Given the description of an element on the screen output the (x, y) to click on. 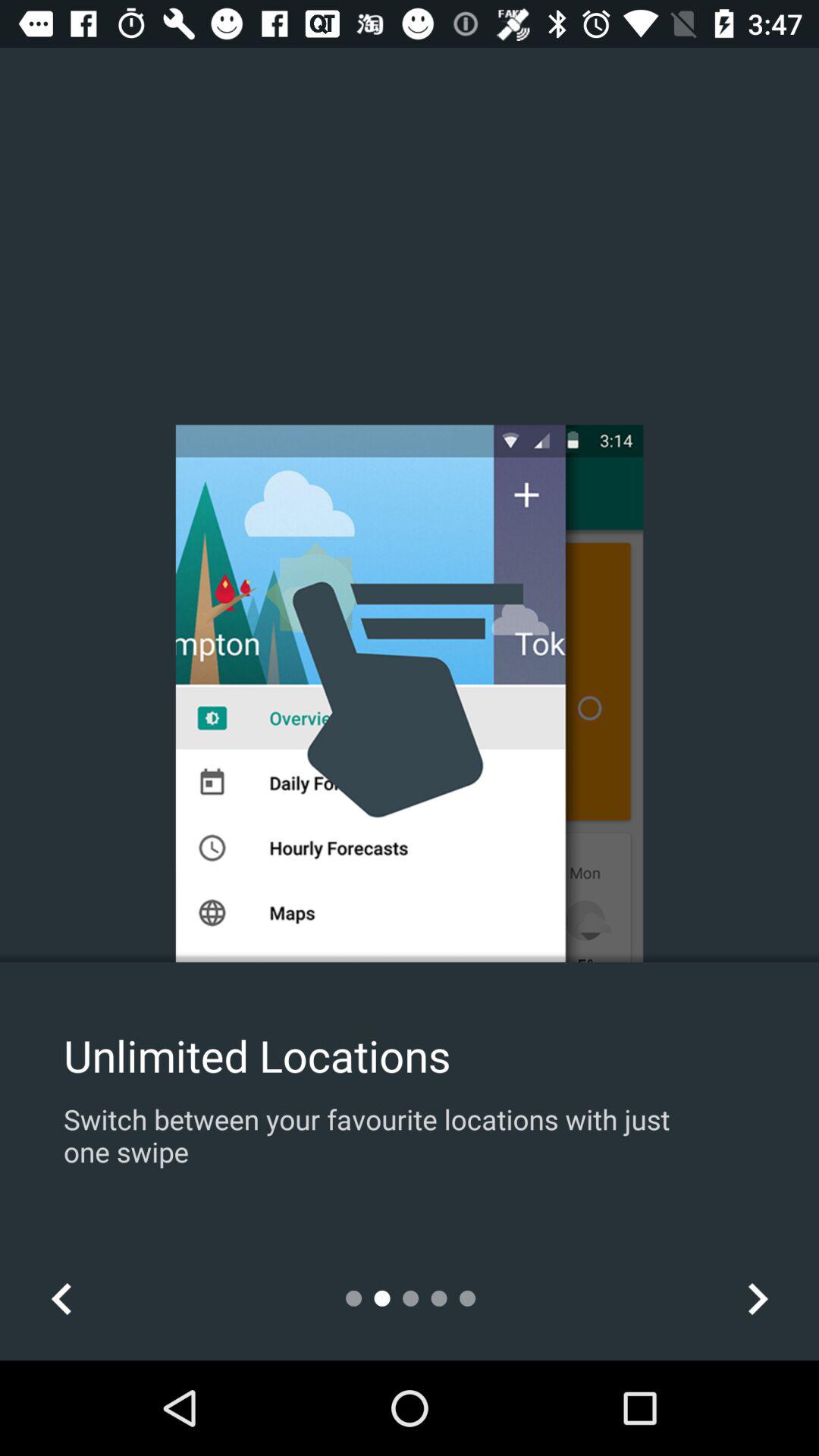
turn on icon at the bottom right corner (757, 1298)
